Given the description of an element on the screen output the (x, y) to click on. 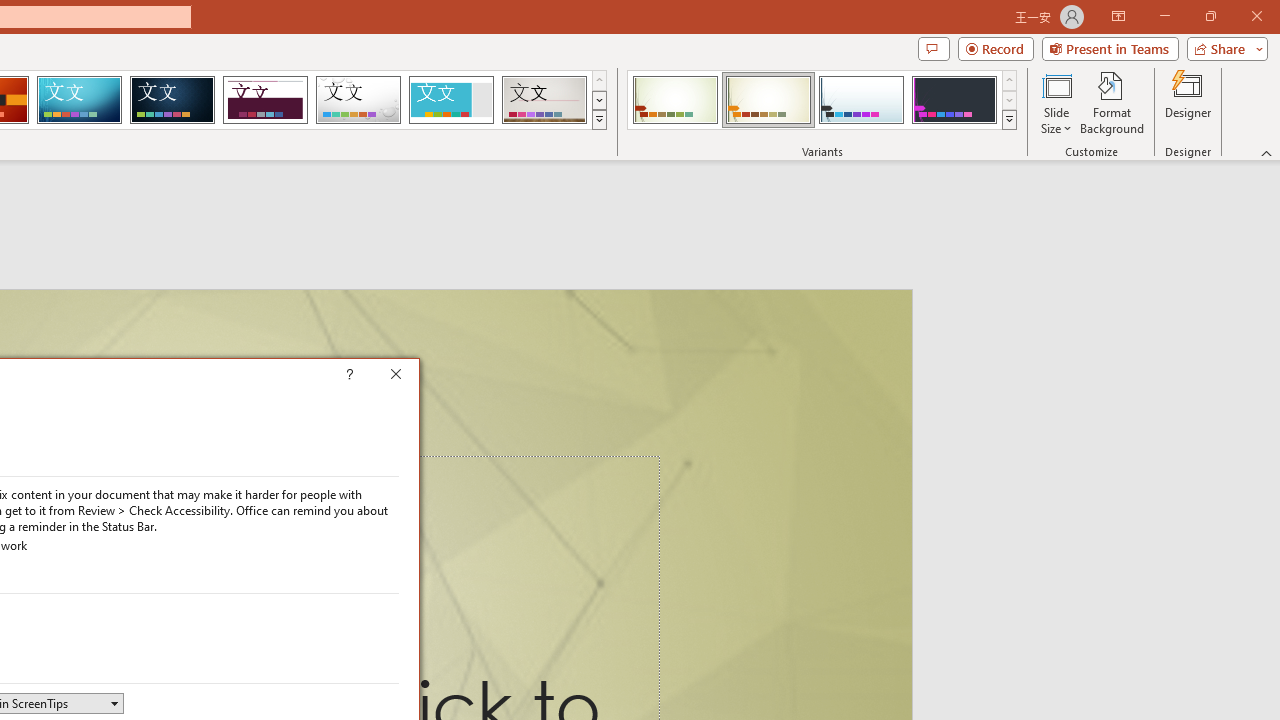
Droplet Loading Preview... (358, 100)
